Given the description of an element on the screen output the (x, y) to click on. 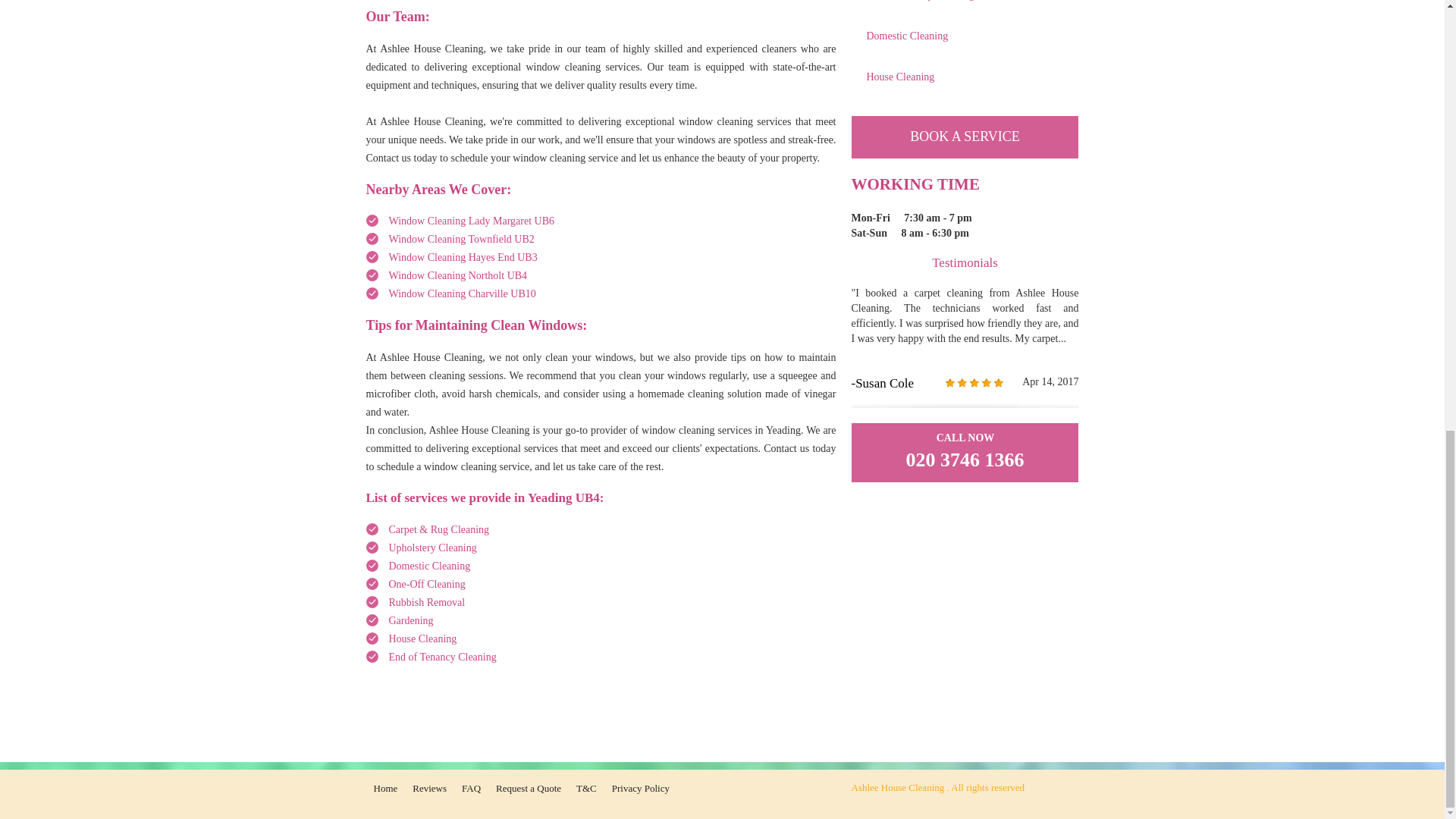
House Cleaning (422, 638)
Rubbish Removal (426, 602)
Window Cleaning Charville UB10 (461, 293)
Window Cleaning Hayes End UB3 (462, 256)
Upholstery Cleaning (432, 547)
Domestic Cleaning (429, 565)
One-Off Cleaning (426, 583)
Gardening (410, 620)
End of Tenancy Cleaning (442, 656)
Window Cleaning Northolt UB4 (457, 275)
